Given the description of an element on the screen output the (x, y) to click on. 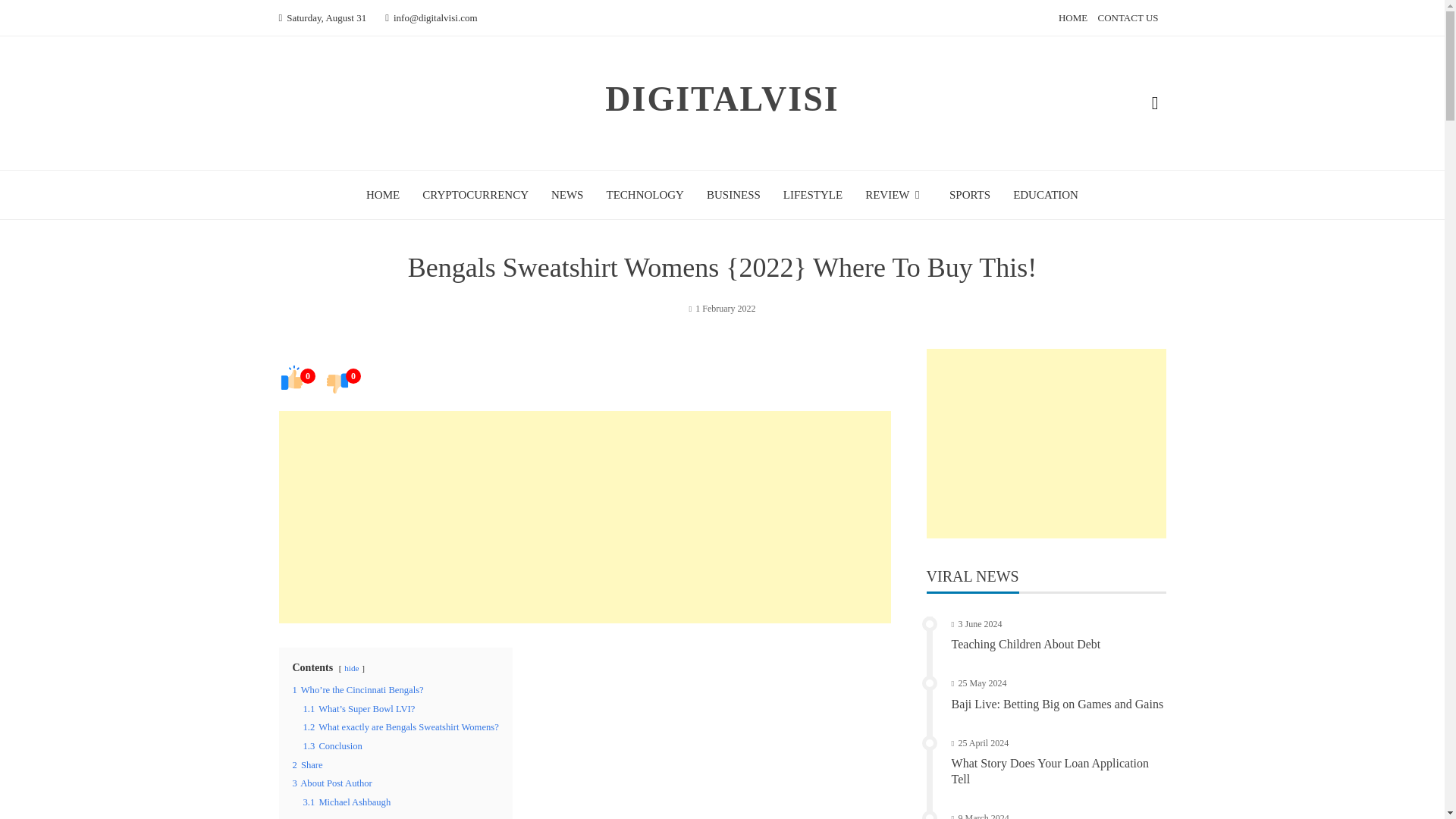
3.1 Michael Ashbaugh (346, 801)
hide (350, 667)
HOME (382, 194)
REVIEW (895, 194)
BUSINESS (733, 194)
EDUCATION (1045, 194)
Advertisement (1046, 443)
SPORTS (969, 194)
HOME (1072, 17)
Advertisement (585, 517)
